Given the description of an element on the screen output the (x, y) to click on. 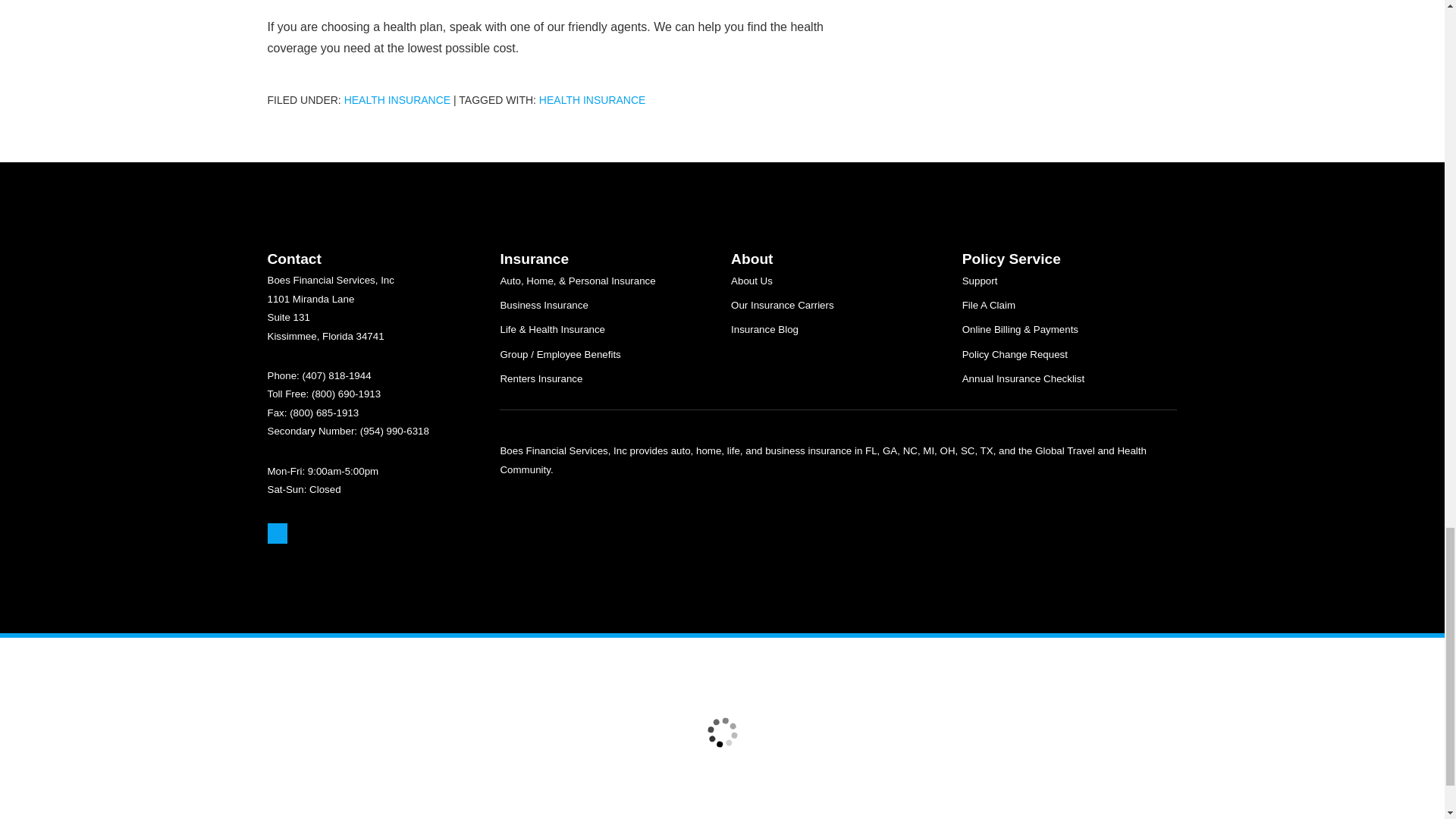
Google Maps (276, 533)
Health Insurance (592, 100)
Health Insurance (397, 100)
